Given the description of an element on the screen output the (x, y) to click on. 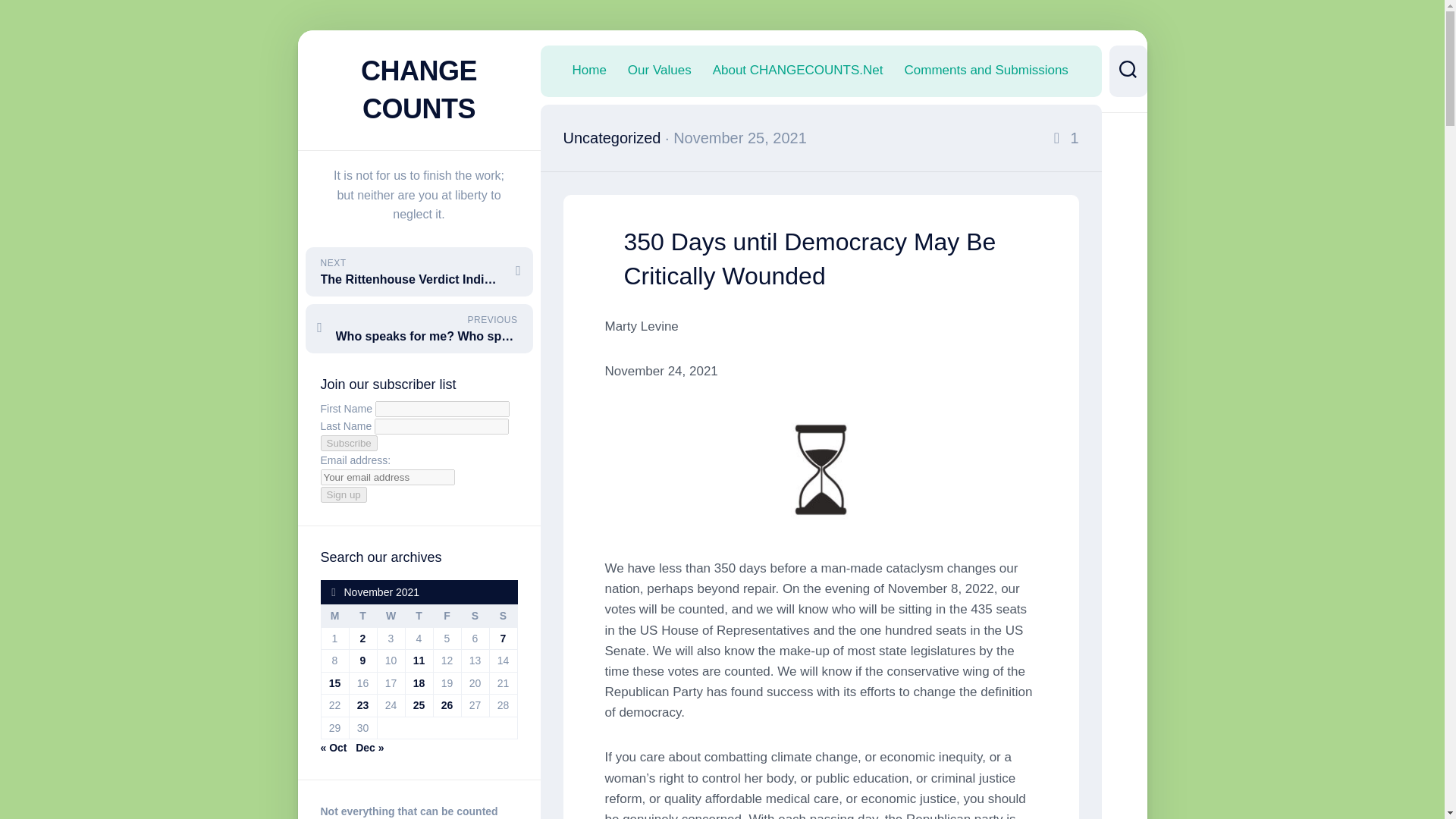
Subscribe (418, 327)
Our Values (348, 442)
25 (659, 70)
Uncategorized (419, 705)
Saturday (611, 137)
Sign up (475, 616)
Comments and Submissions (343, 494)
11 (985, 70)
Subscribe (419, 660)
